Given the description of an element on the screen output the (x, y) to click on. 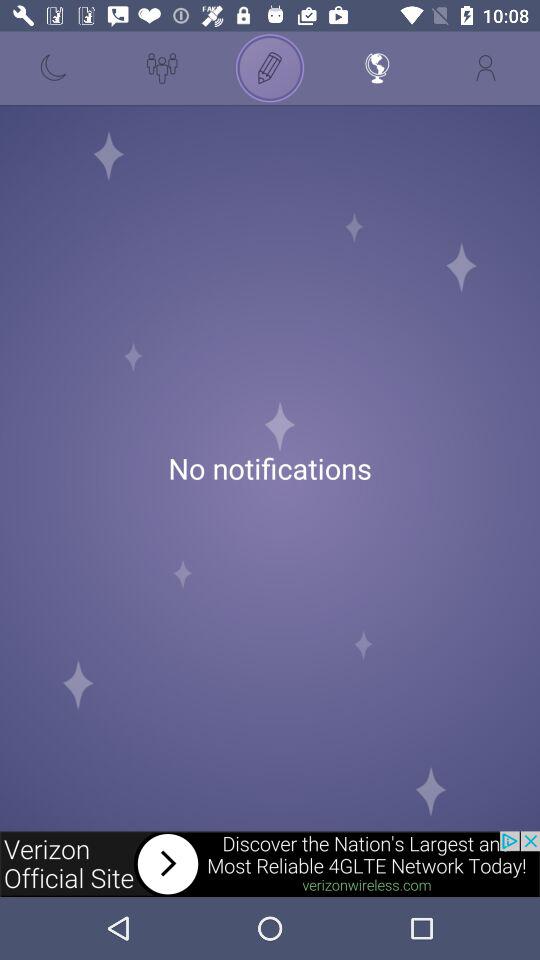
write (269, 68)
